Given the description of an element on the screen output the (x, y) to click on. 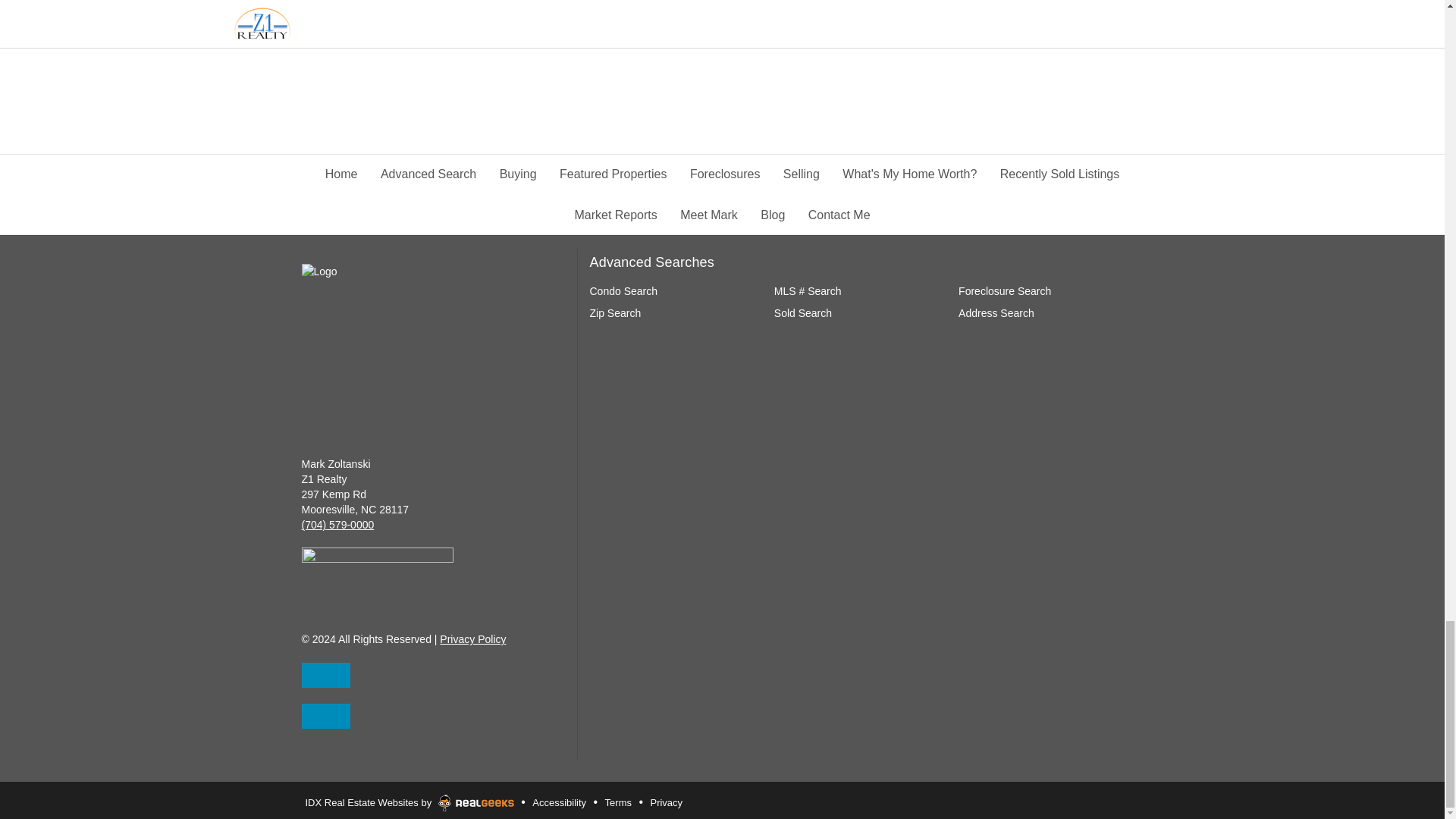
Logo (386, 344)
Contact (325, 674)
MLS Logo (376, 574)
Go to top (325, 715)
